Given the description of an element on the screen output the (x, y) to click on. 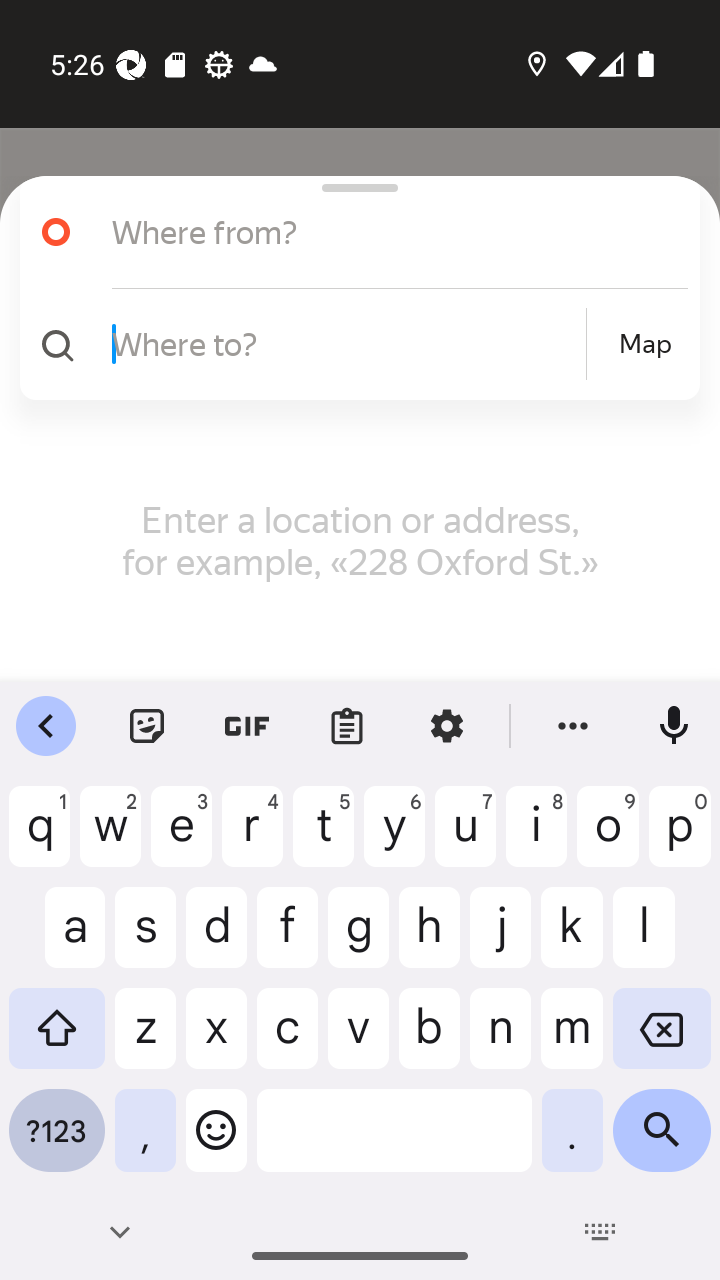
Where from? (352, 232)
Where from? (373, 232)
Where to? Map Map (352, 343)
Map (645, 343)
Where to? (346, 343)
